Given the description of an element on the screen output the (x, y) to click on. 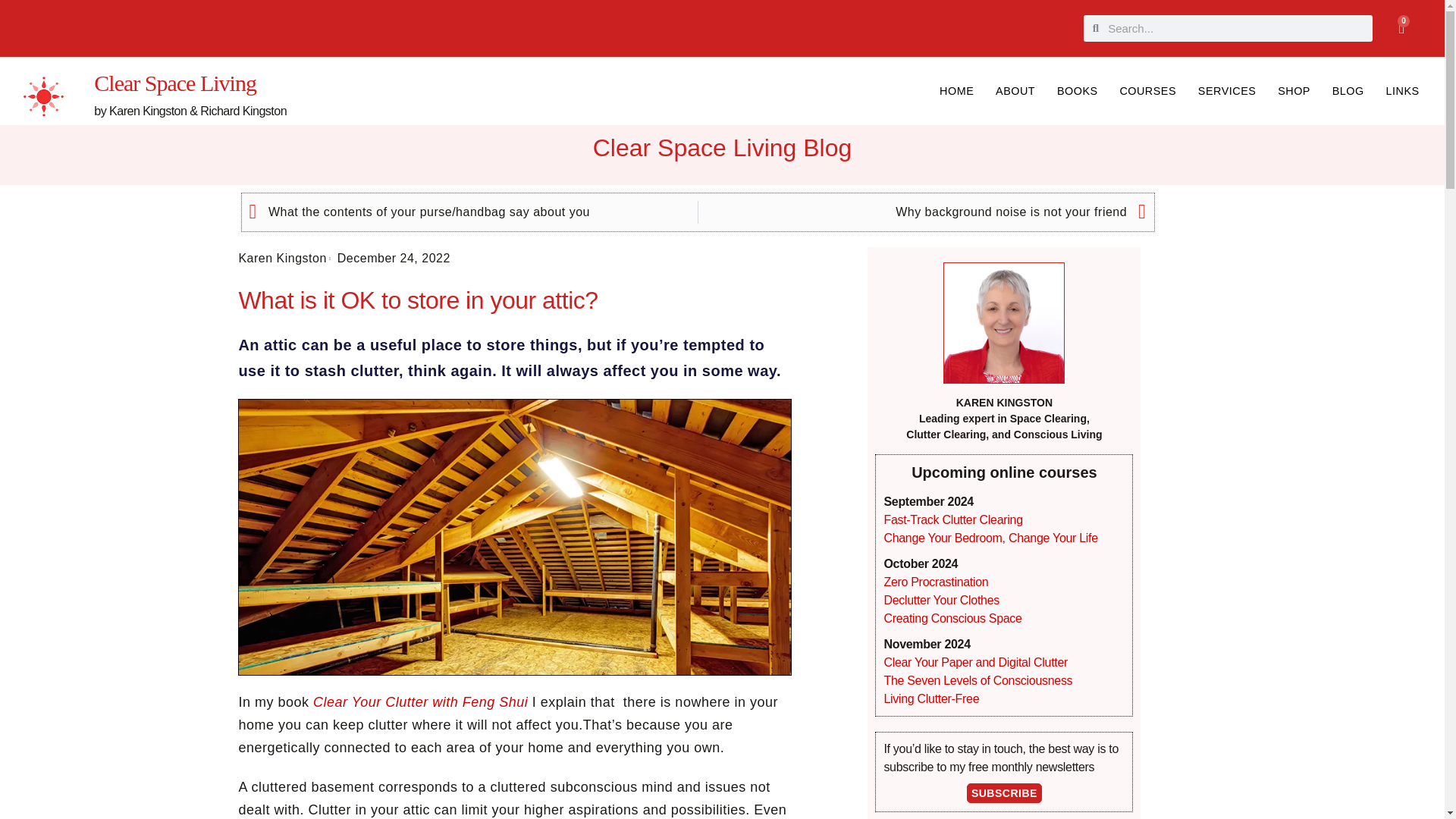
BLOG (1347, 90)
LINKS (1401, 90)
SHOP (1401, 28)
Clear Space Living (1294, 90)
SERVICES (175, 82)
HOME (1226, 90)
ABOUT (956, 90)
COURSES (1015, 90)
BOOKS (1147, 90)
